Given the description of an element on the screen output the (x, y) to click on. 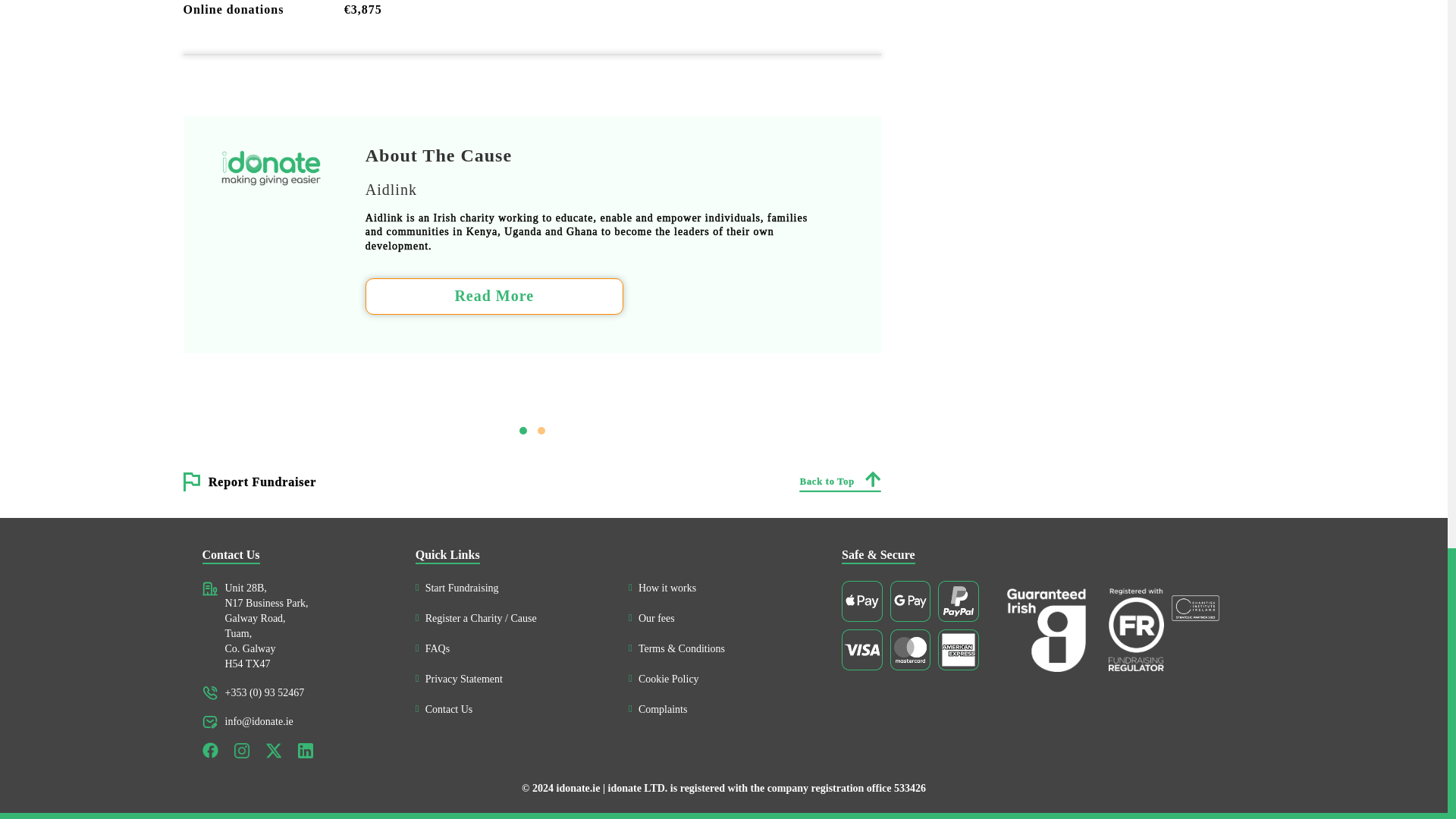
Report Fundraiser (262, 481)
Guaranteed Irish (1046, 629)
Google Pay (910, 600)
PayPal (957, 600)
Mastercard (910, 649)
Apple Pay (861, 600)
Visa (861, 649)
American Express (957, 649)
